Given the description of an element on the screen output the (x, y) to click on. 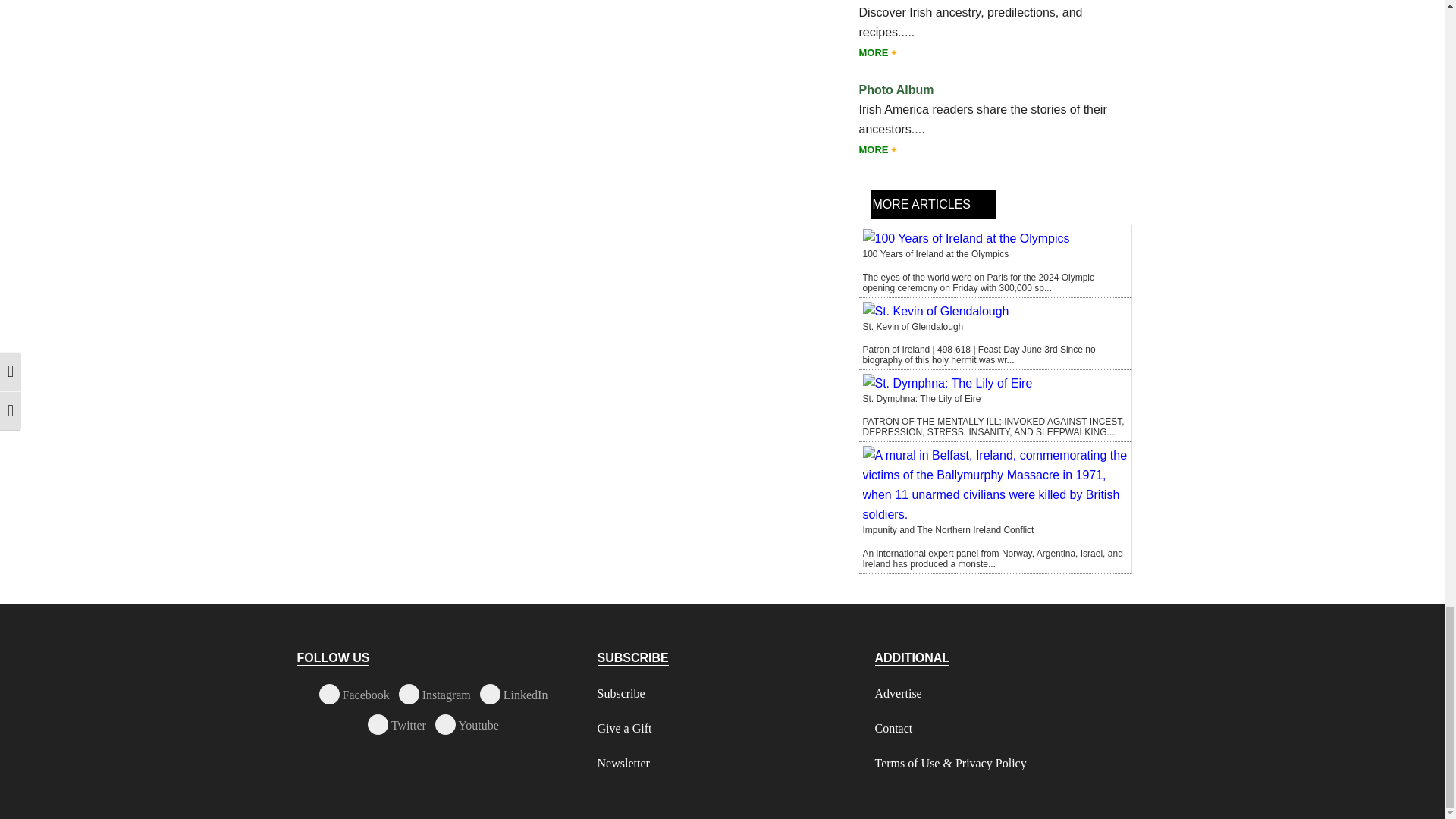
MORE (877, 52)
MORE (877, 149)
